Given the description of an element on the screen output the (x, y) to click on. 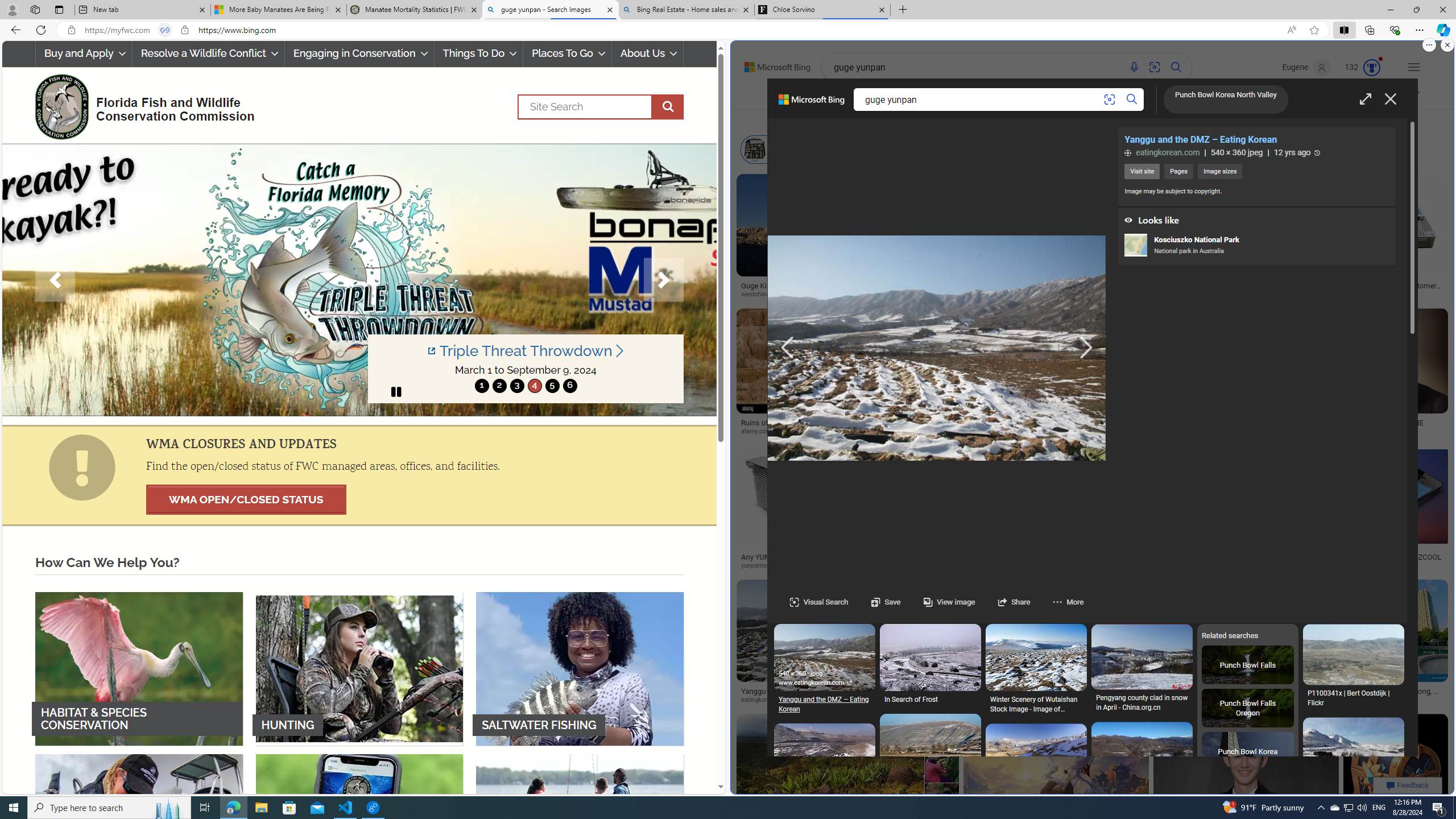
cartoondealer.com (1158, 293)
Inspiration (998, 96)
3 (516, 385)
